Given the description of an element on the screen output the (x, y) to click on. 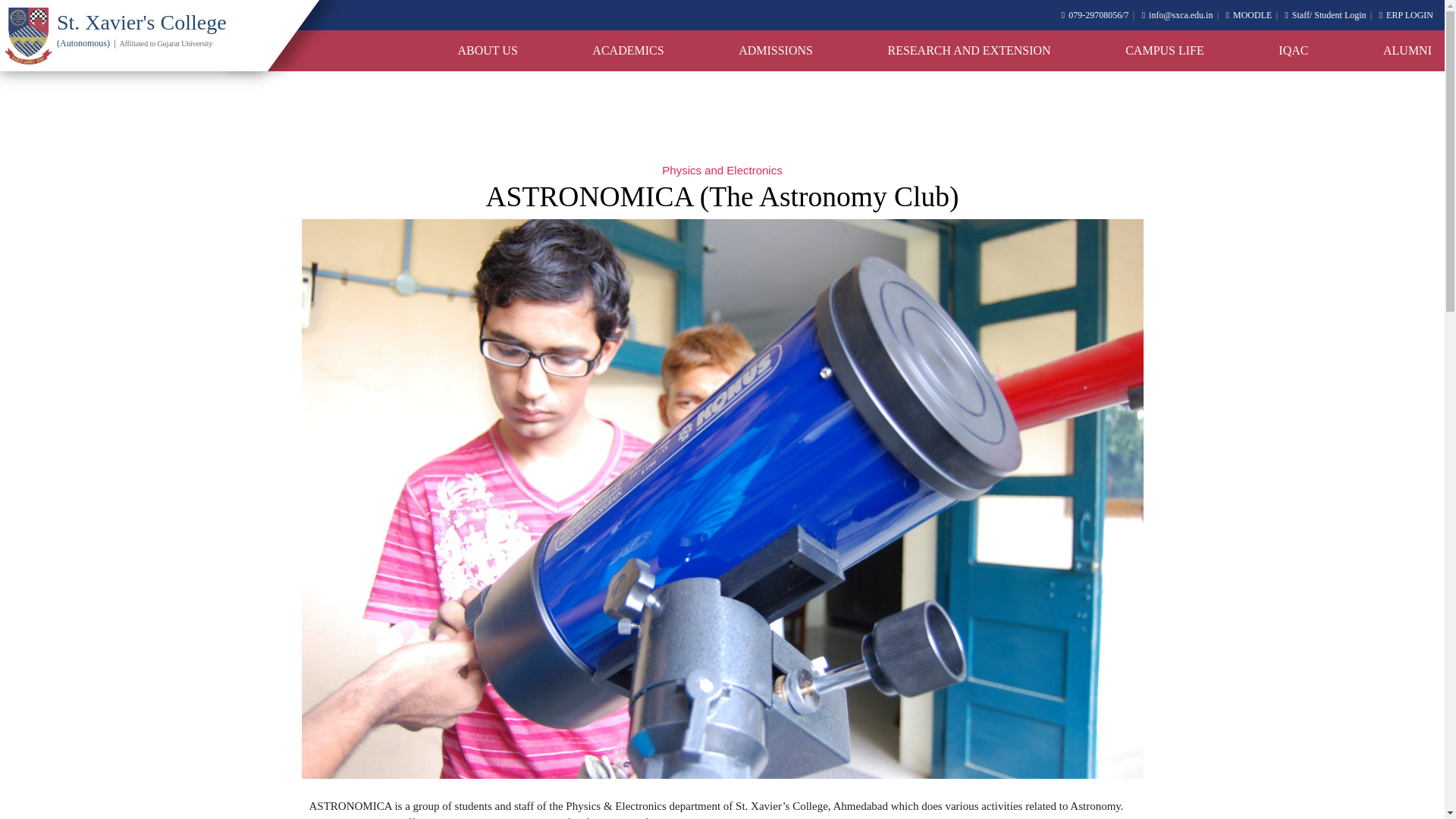
IQAC (1292, 51)
RESEARCH AND EXTENSION (967, 51)
MOODLE (1248, 15)
CAMPUS LIFE (1164, 51)
ERP LOGIN (1405, 15)
ADMISSIONS (775, 51)
Physics and Electronics (721, 169)
ABOUT US (488, 51)
ACADEMICS (627, 51)
ALUMNI (1407, 51)
